Given the description of an element on the screen output the (x, y) to click on. 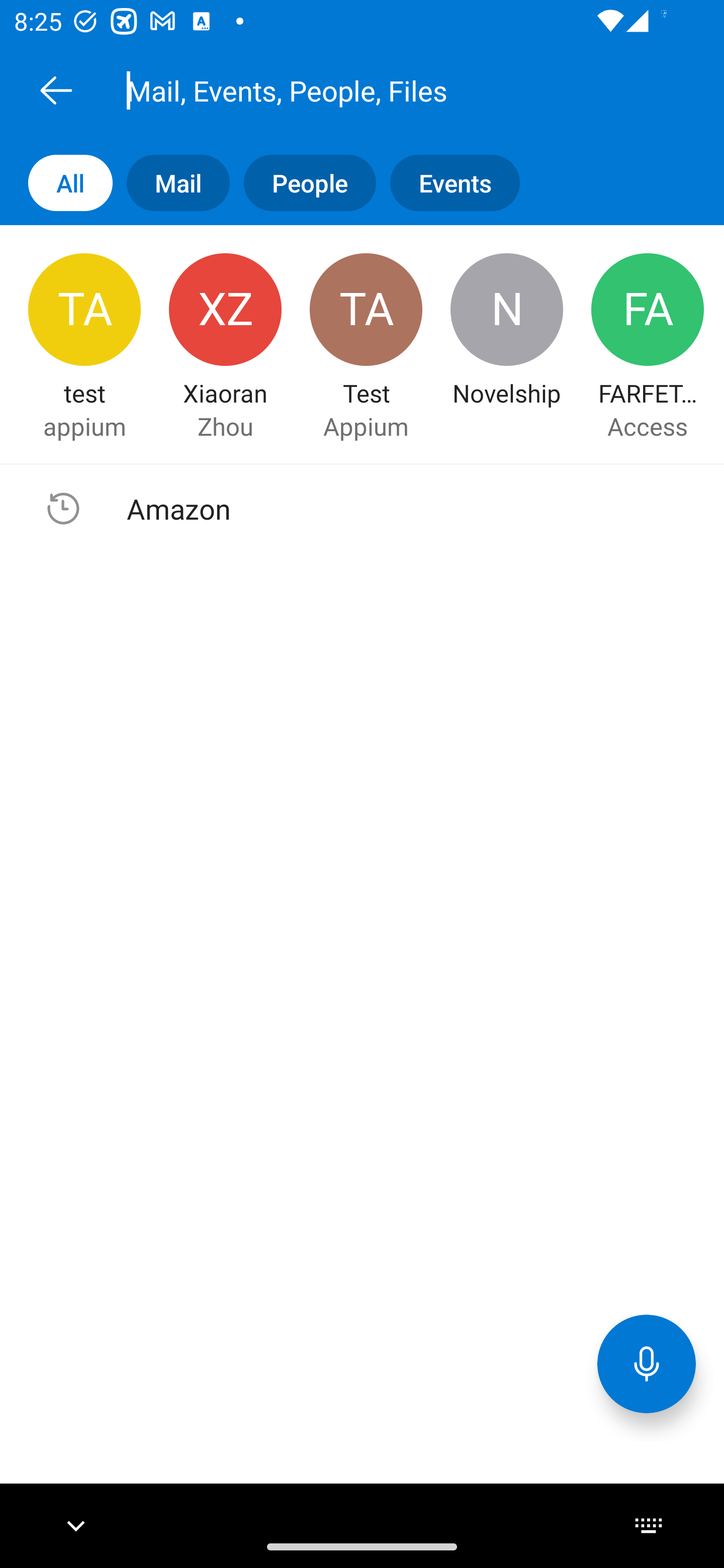
Back (55, 89)
Mail, Events, People, Files (384, 89)
Mail (170, 183)
People (302, 183)
Events (447, 183)
Suggested search , Text, Amazon Amazon (362, 508)
Voice Assistant (646, 1362)
